Given the description of an element on the screen output the (x, y) to click on. 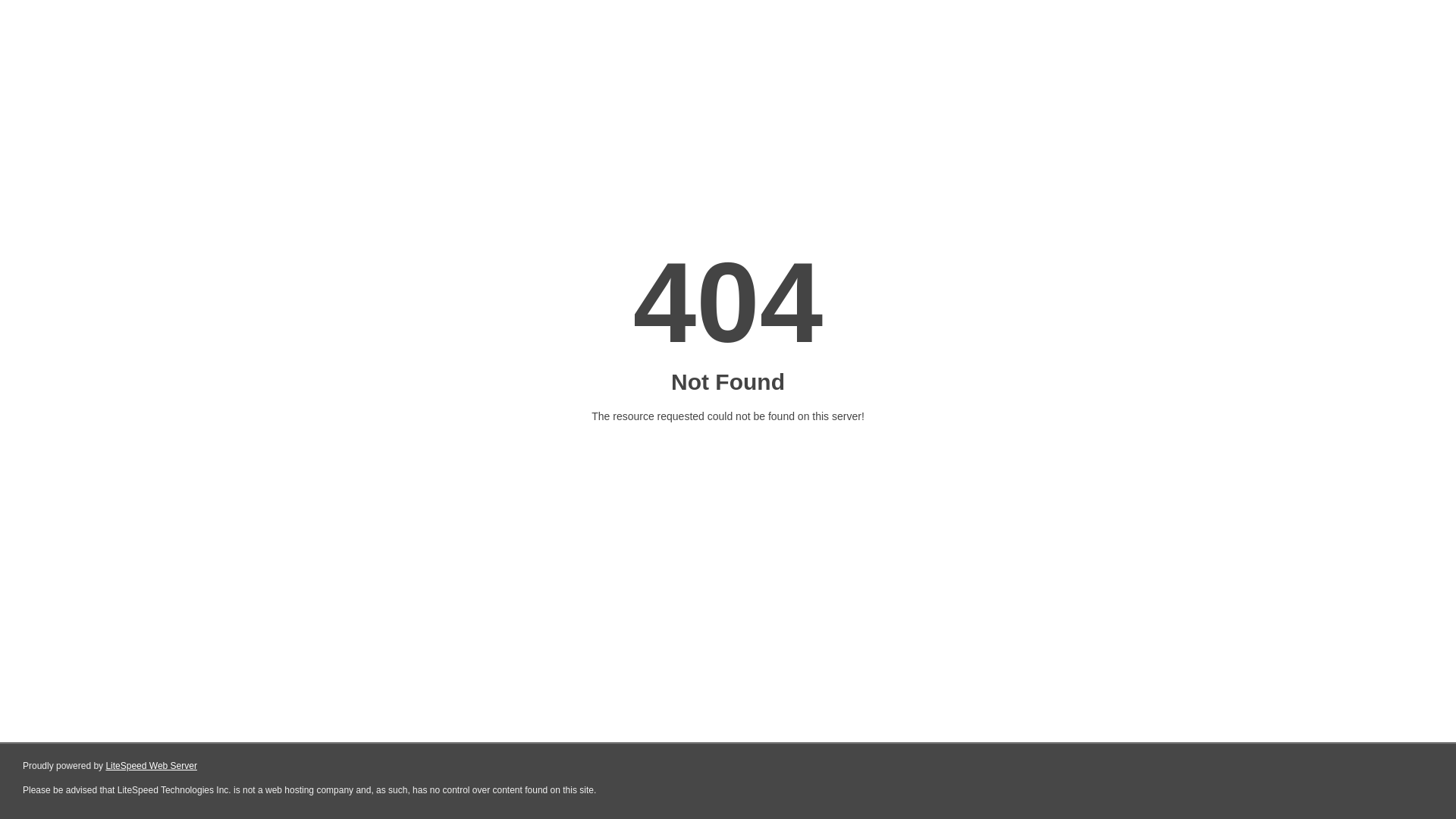
LiteSpeed Web Server Element type: text (151, 765)
